Given the description of an element on the screen output the (x, y) to click on. 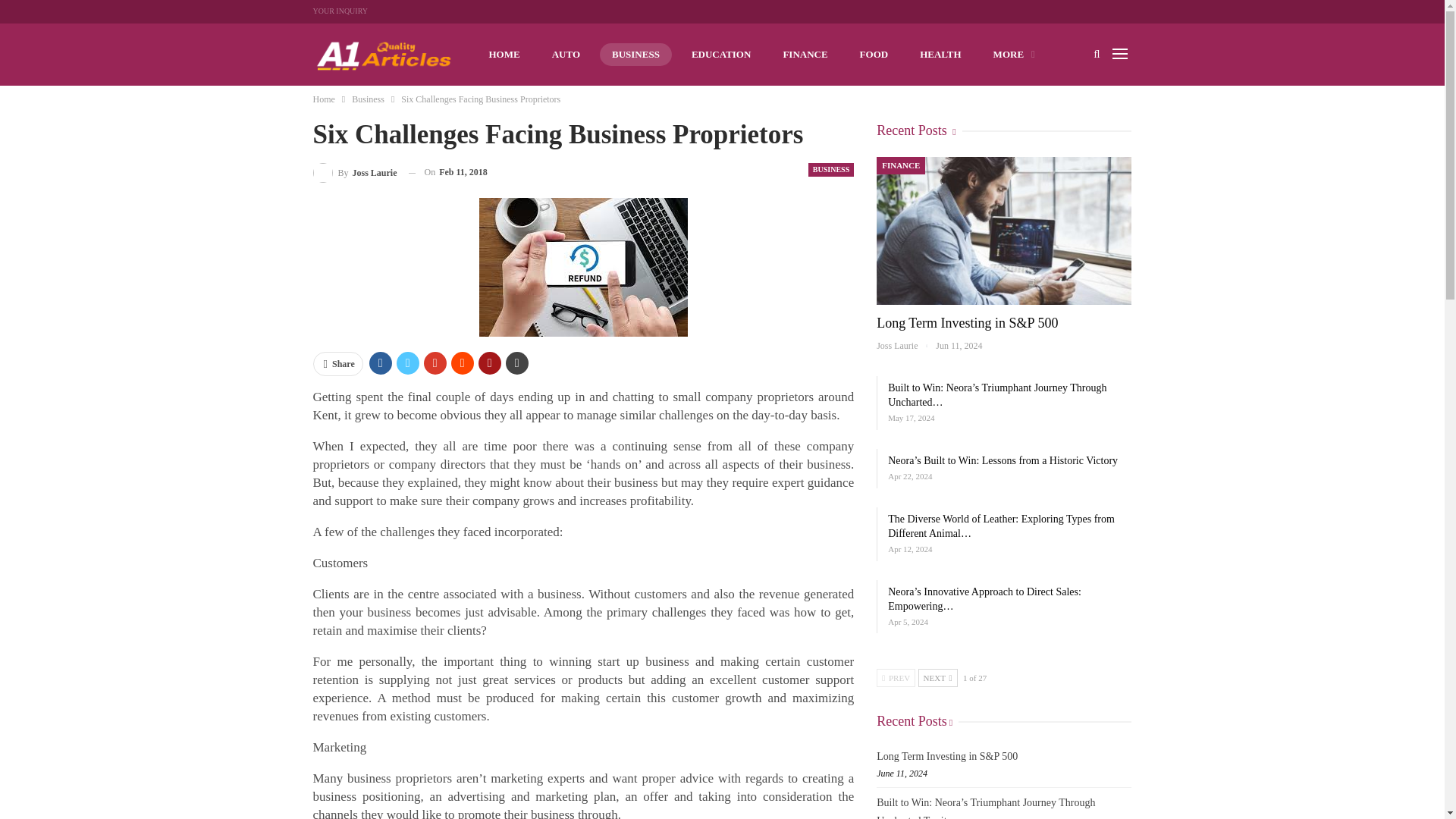
HEALTH (939, 54)
BUSINESS (830, 169)
BUSINESS (635, 54)
FINANCE (805, 54)
MORE (1013, 54)
Business (368, 98)
Browse Author Articles (354, 172)
FOOD (874, 54)
HOME (503, 54)
AUTO (566, 54)
